Given the description of an element on the screen output the (x, y) to click on. 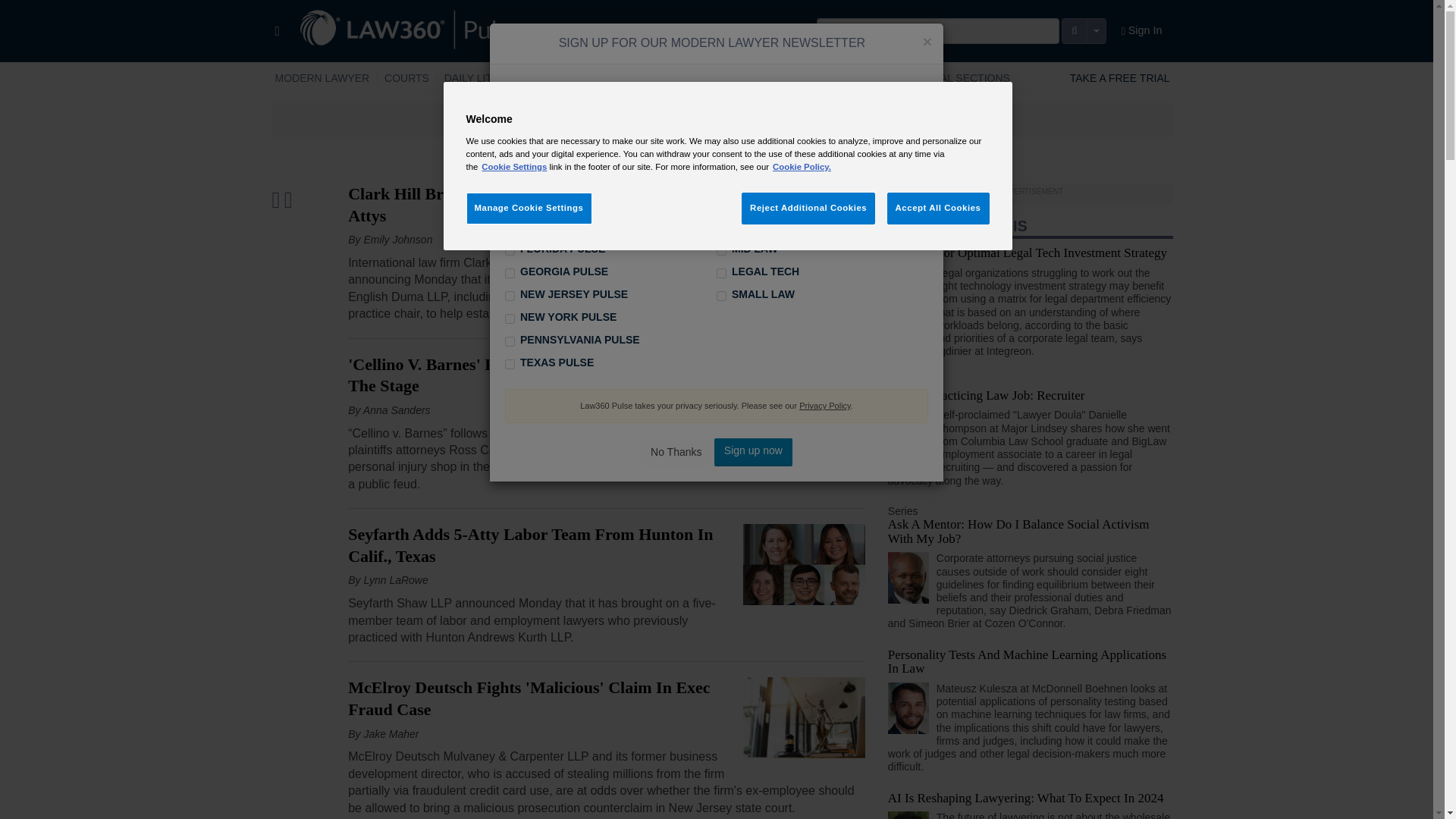
new-york-pulse (510, 318)
DAILY LITIGATION (489, 77)
SMALL LAW (788, 77)
  Sign In (1141, 31)
florida-pulse (510, 250)
Modern Lawyer (322, 77)
daily-litigation (721, 204)
texas-pulse (510, 364)
IN-HOUSE (575, 77)
Mid-Law (639, 77)
in-house (721, 227)
delaware-pulse (510, 227)
mid-law (721, 250)
REGIONAL SECTIONS (954, 77)
In-House (575, 77)
